Given the description of an element on the screen output the (x, y) to click on. 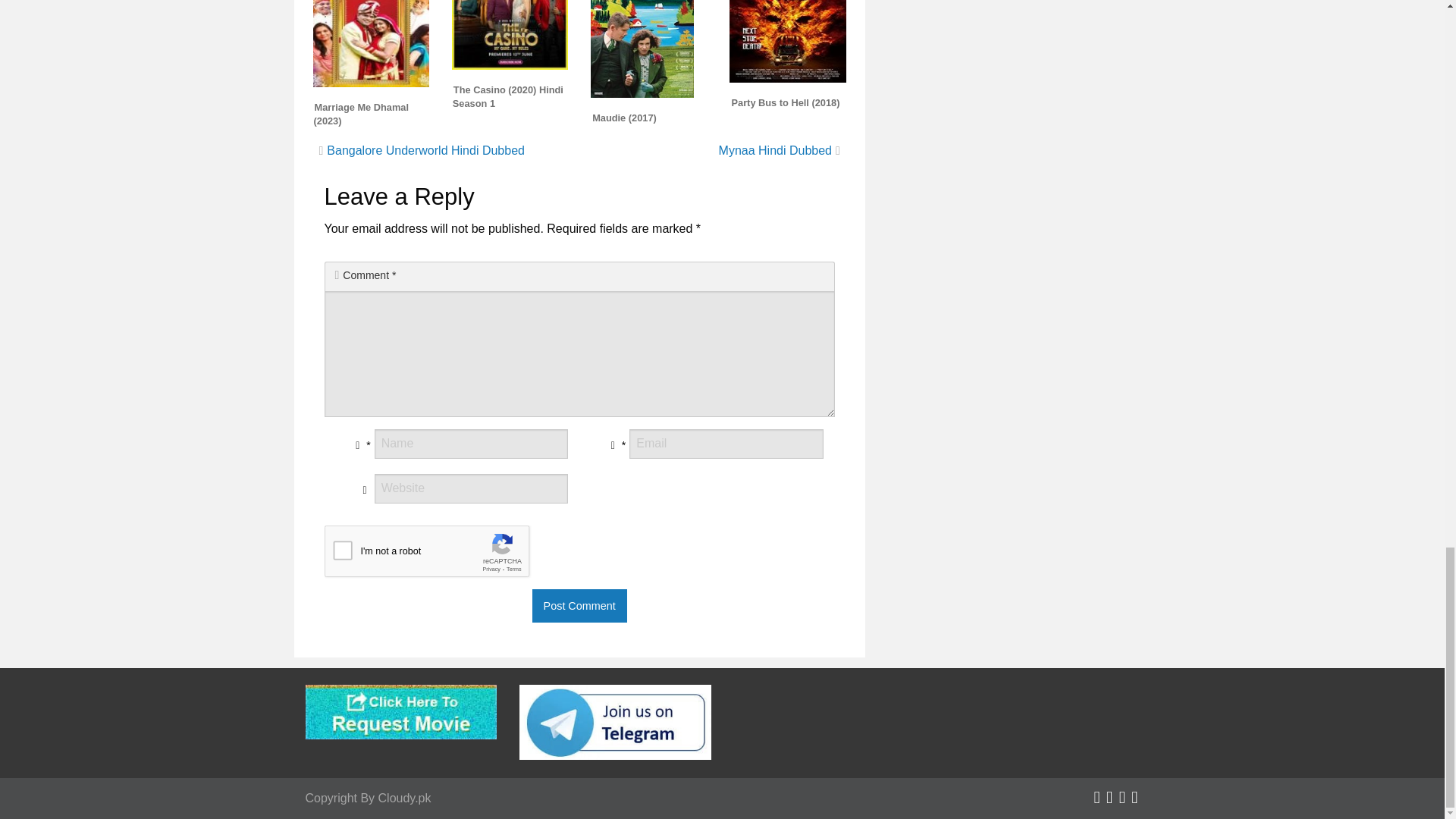
Post Comment (579, 605)
